Given the description of an element on the screen output the (x, y) to click on. 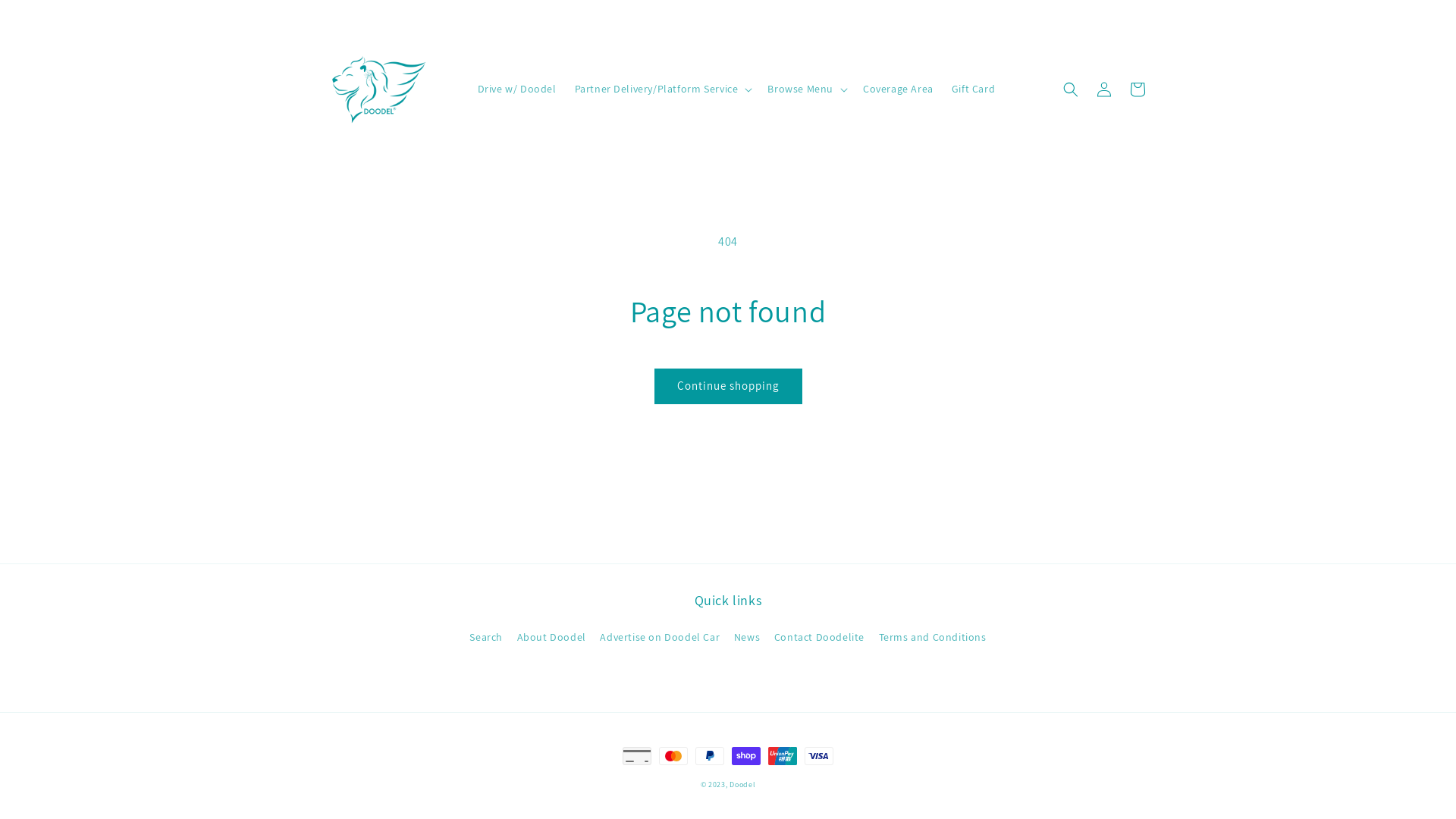
Terms and Conditions Element type: text (932, 637)
Gift Card Element type: text (973, 88)
Contact Doodelite Element type: text (819, 637)
Coverage Area Element type: text (897, 88)
Drive w/ Doodel Element type: text (516, 88)
Continue shopping Element type: text (727, 386)
About Doodel Element type: text (551, 637)
Log in Element type: text (1103, 89)
Search Element type: text (485, 638)
Cart Element type: text (1137, 89)
Doodel Element type: text (742, 784)
News Element type: text (746, 637)
Advertise on Doodel Car Element type: text (659, 637)
